Given the description of an element on the screen output the (x, y) to click on. 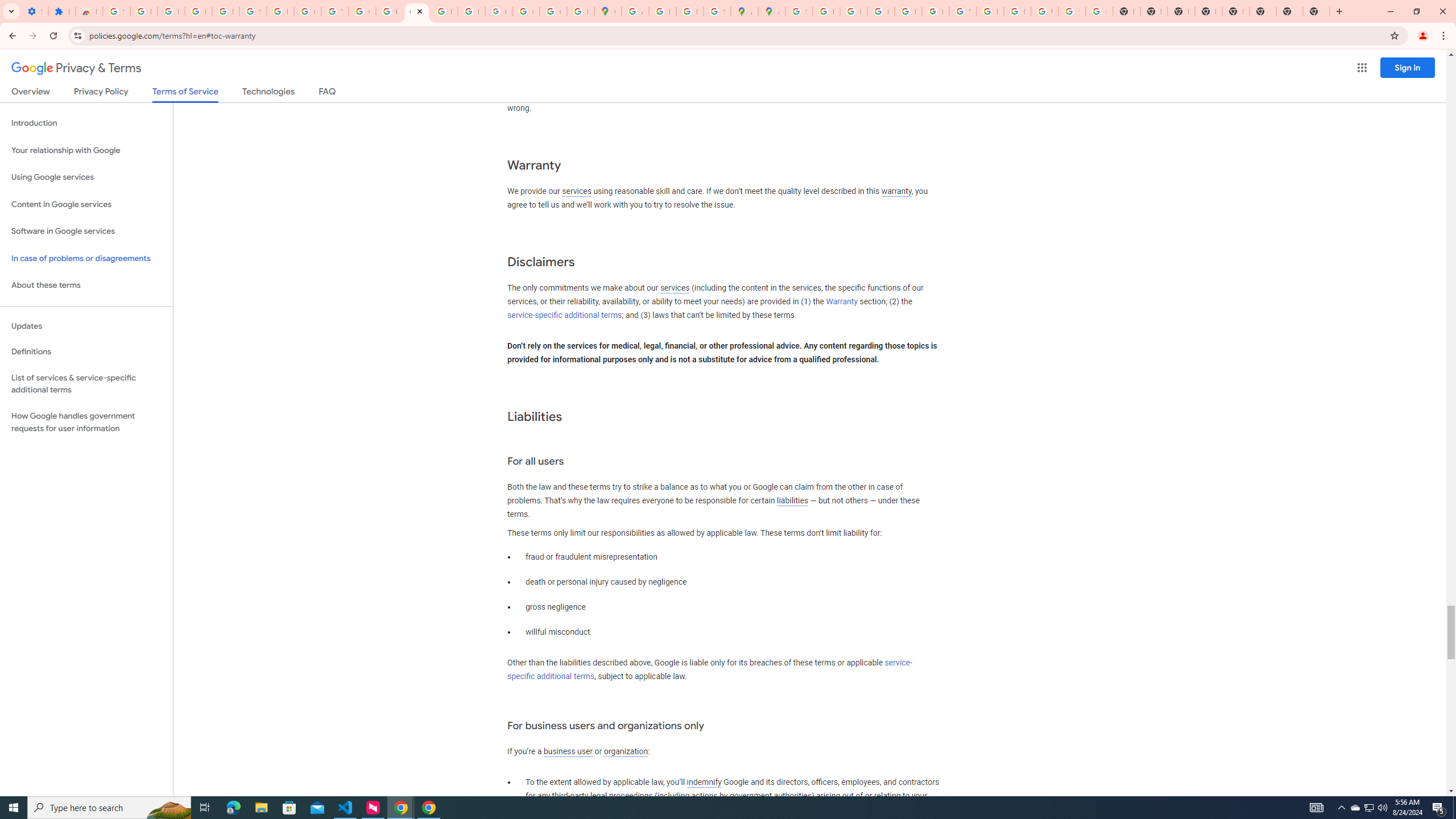
New Tab (1316, 11)
Privacy & Terms (76, 68)
business user (567, 751)
Updates (86, 325)
Delete photos & videos - Computer - Google Photos Help (170, 11)
Introduction (86, 122)
Settings - On startup (34, 11)
